Given the description of an element on the screen output the (x, y) to click on. 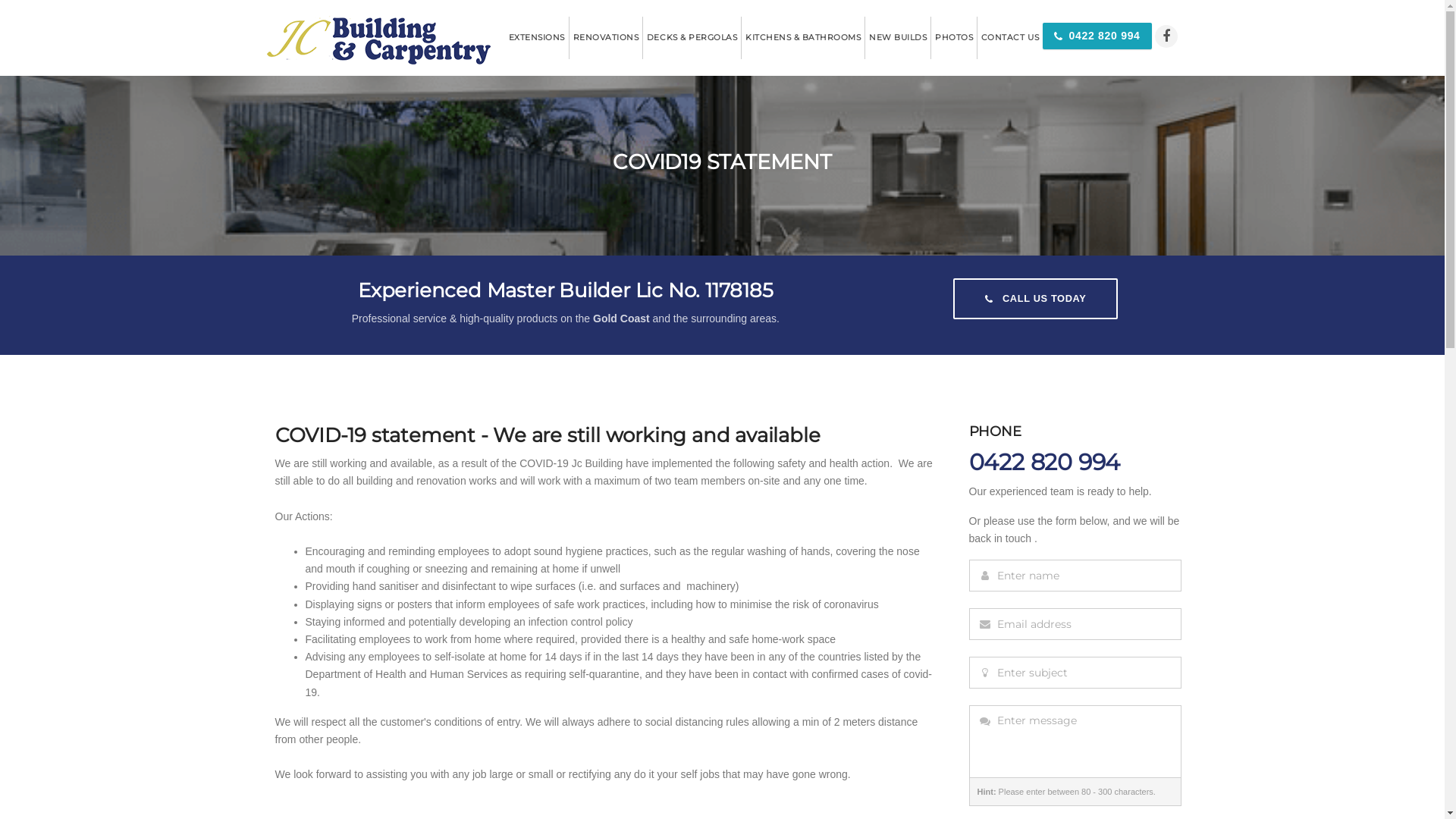
NEW BUILDS Element type: text (897, 37)
CONTACT US Element type: text (1009, 37)
DECKS & PERGOLAS Element type: text (691, 37)
0422 820 994 Element type: text (1096, 37)
CALL US TODAY Element type: text (1035, 298)
EXTENSIONS Element type: text (536, 37)
RENOVATIONS Element type: text (605, 37)
PHOTOS Element type: text (953, 37)
KITCHENS & BATHROOMS Element type: text (802, 37)
0422 820 994 Element type: text (1044, 462)
0422 820 994 Element type: text (1096, 35)
